Given the description of an element on the screen output the (x, y) to click on. 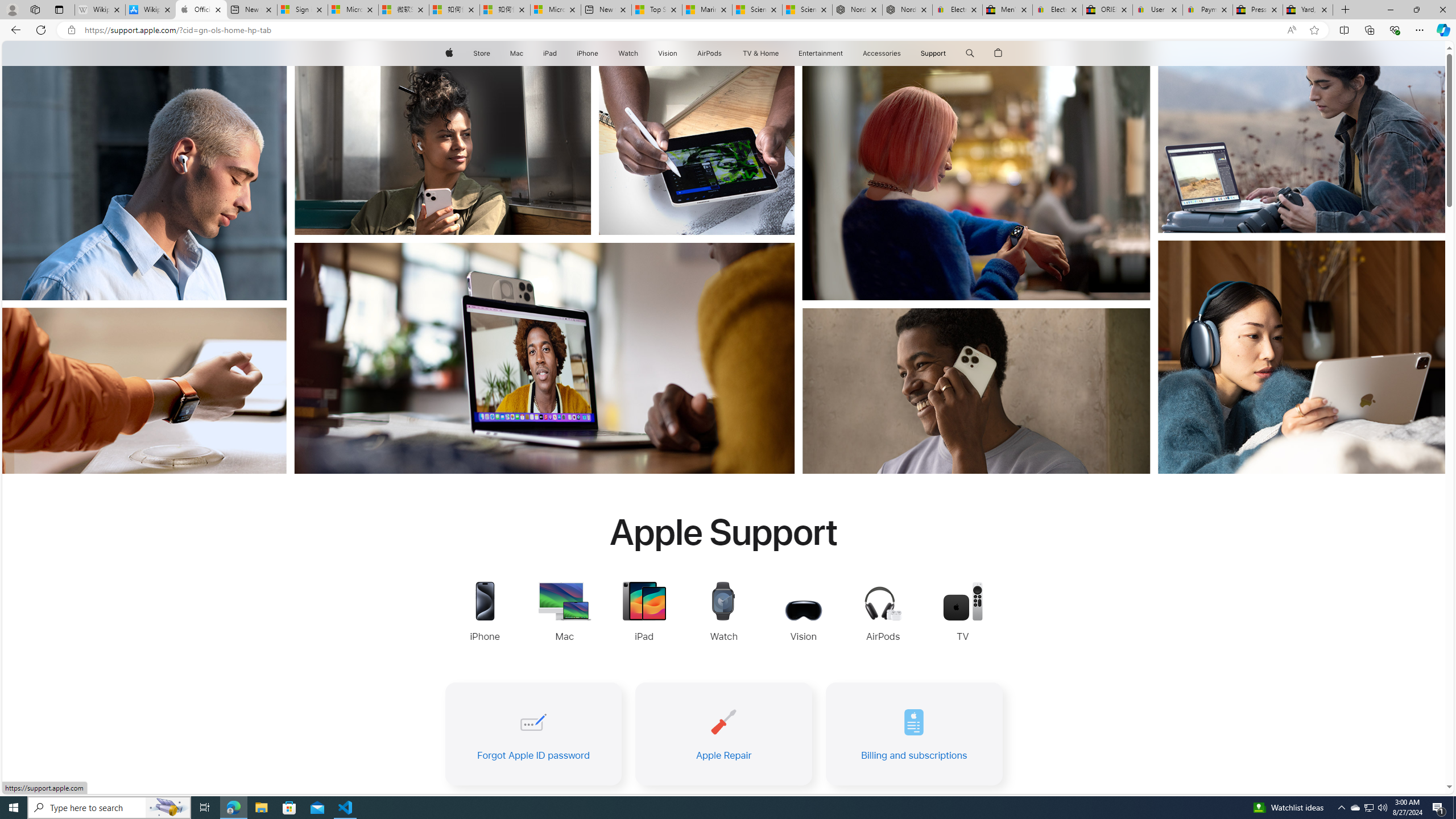
AirPods menu (723, 53)
Payments Terms of Use | eBay.com (1207, 9)
